Given the description of an element on the screen output the (x, y) to click on. 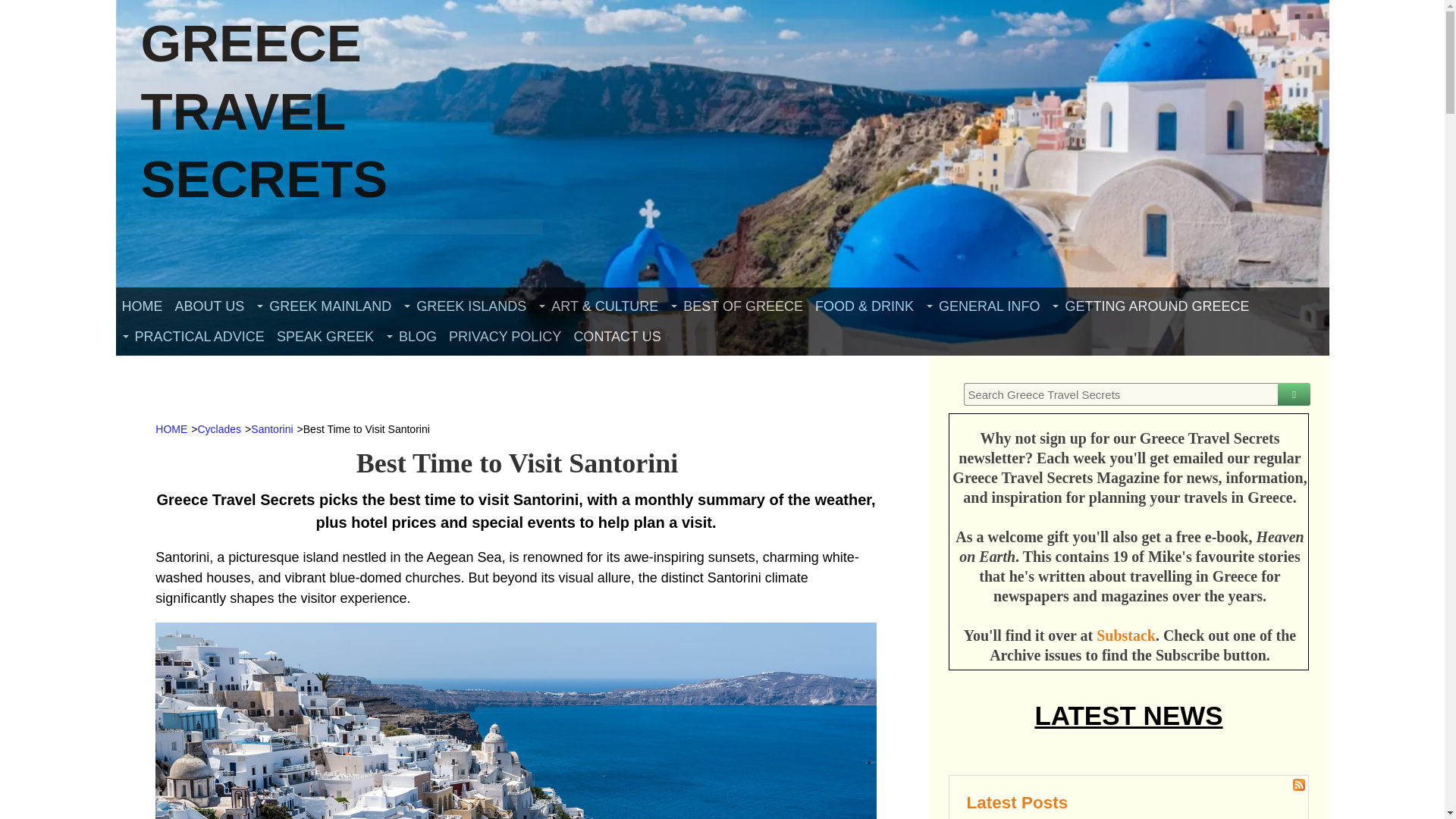
GREECE TRAVEL SECRETS (264, 111)
ABOUT US (209, 306)
HOME (141, 306)
